Given the description of an element on the screen output the (x, y) to click on. 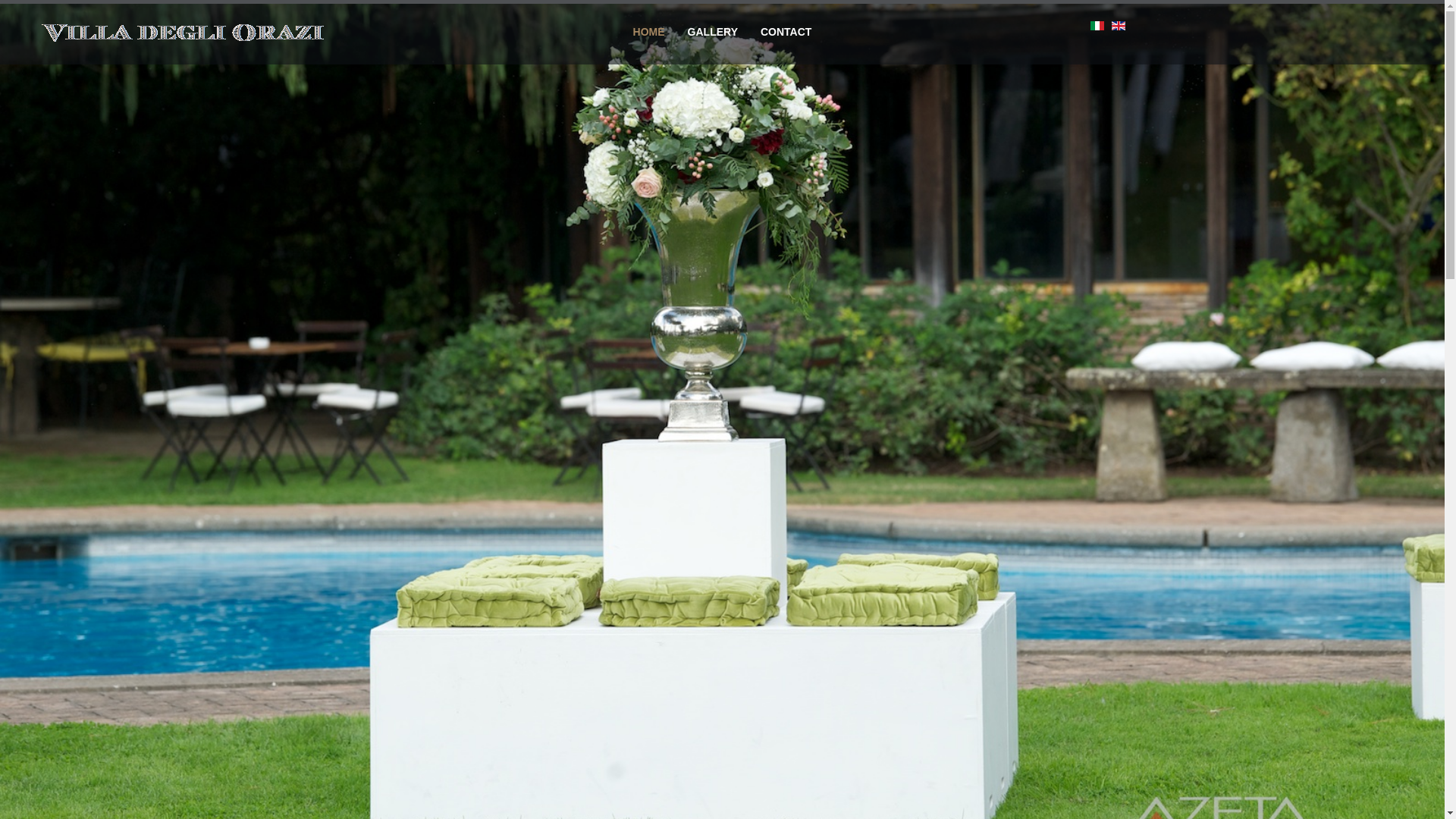
CONTACT (785, 32)
GALLERY (713, 32)
